Given the description of an element on the screen output the (x, y) to click on. 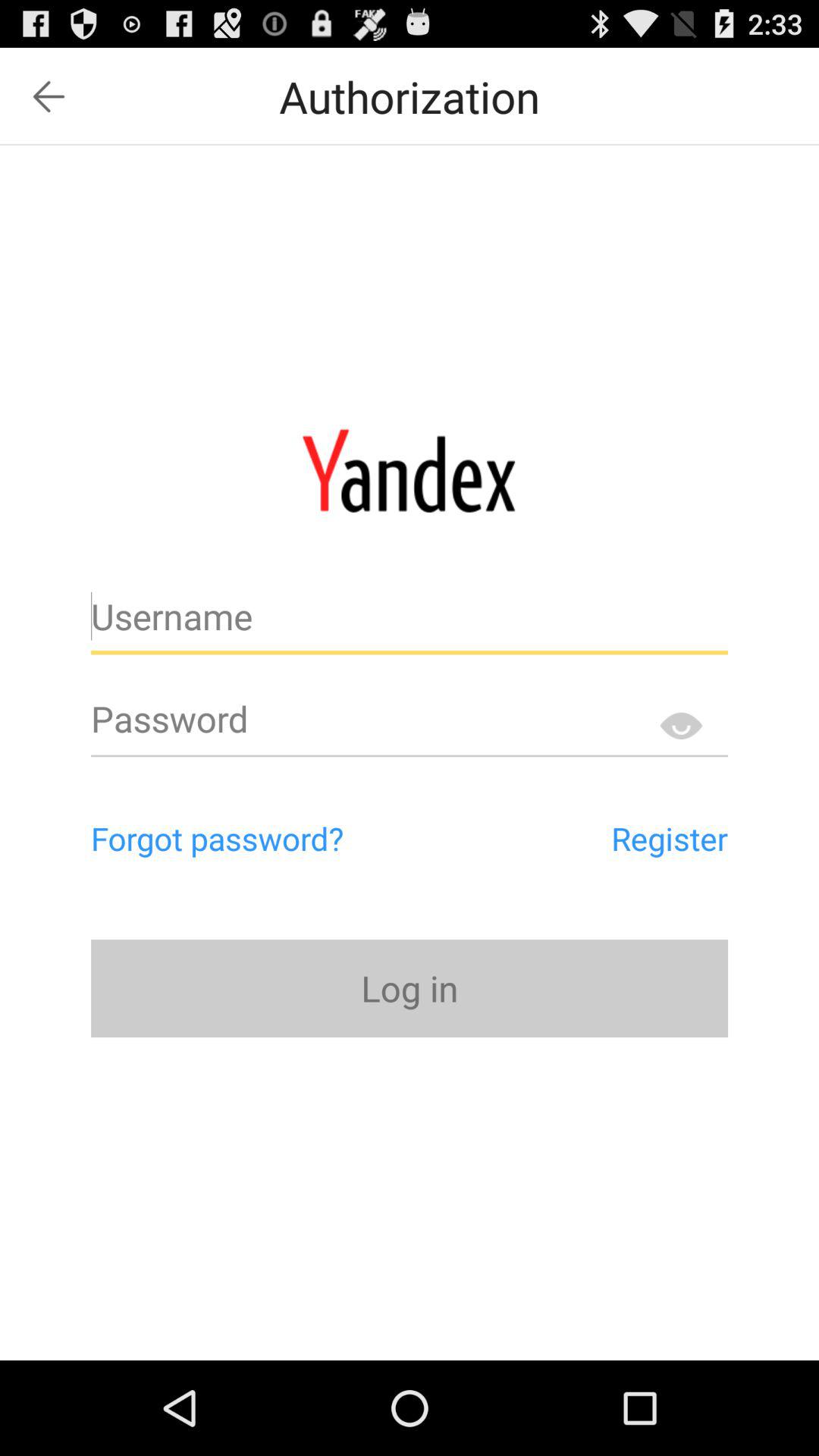
view encrypted password (680, 725)
